Given the description of an element on the screen output the (x, y) to click on. 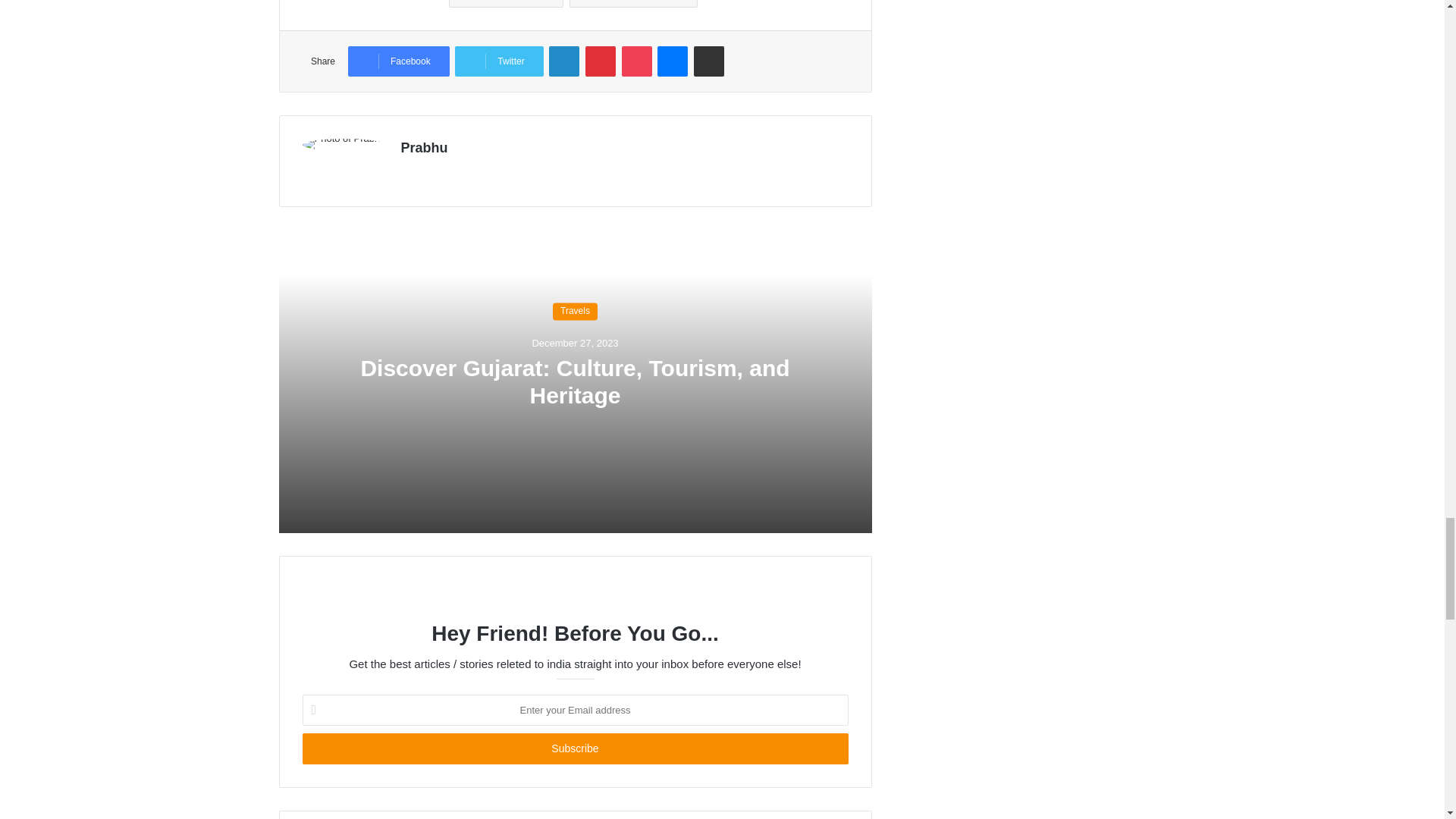
Subscribe (574, 748)
